Given the description of an element on the screen output the (x, y) to click on. 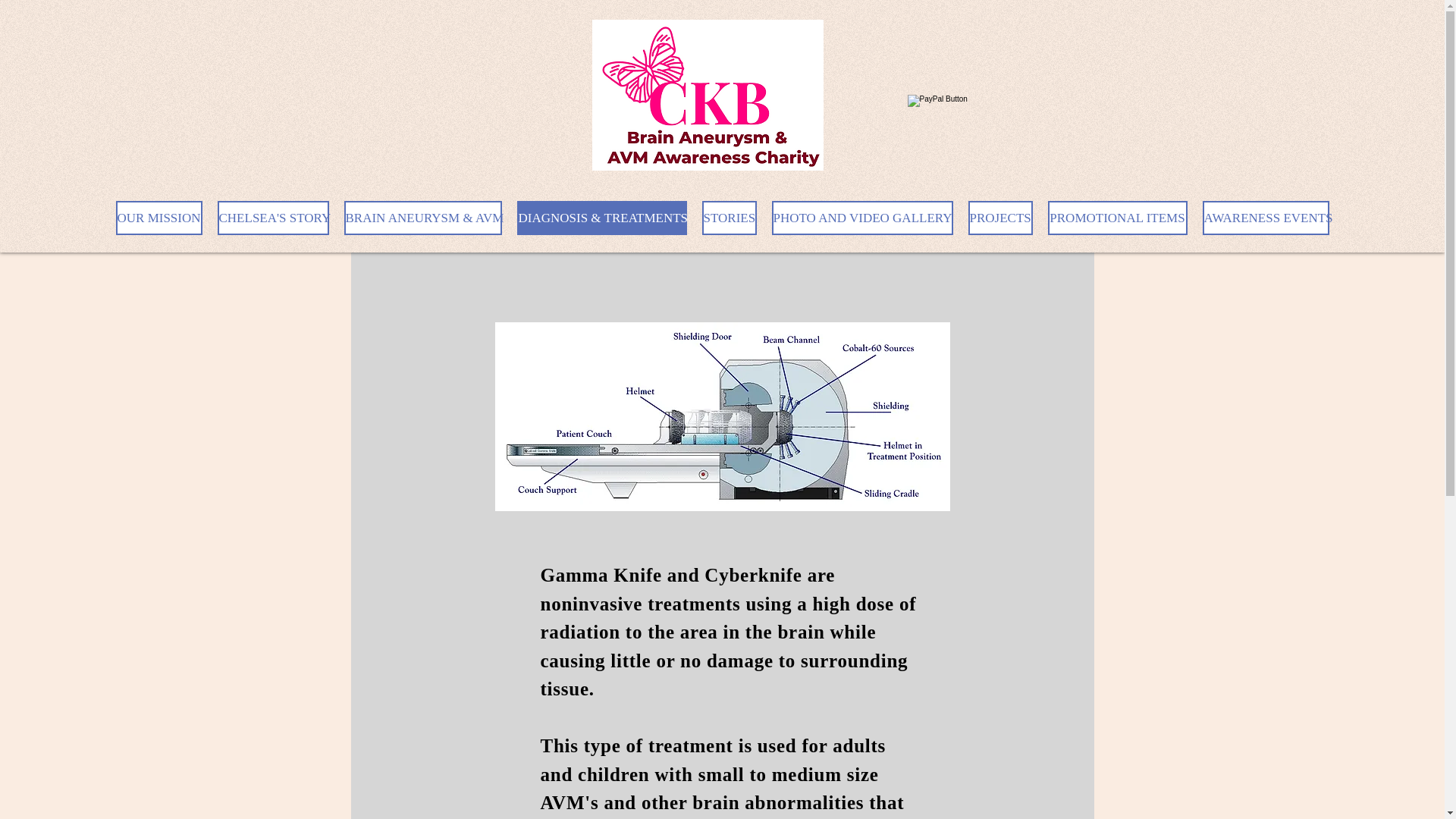
PHOTO AND VIDEO GALLERY (862, 217)
CHELSEA'S STORY (272, 217)
STORIES (729, 217)
PROJECTS (1000, 217)
OUR MISSION (158, 217)
PROMOTIONAL ITEMS (1118, 217)
